Given the description of an element on the screen output the (x, y) to click on. 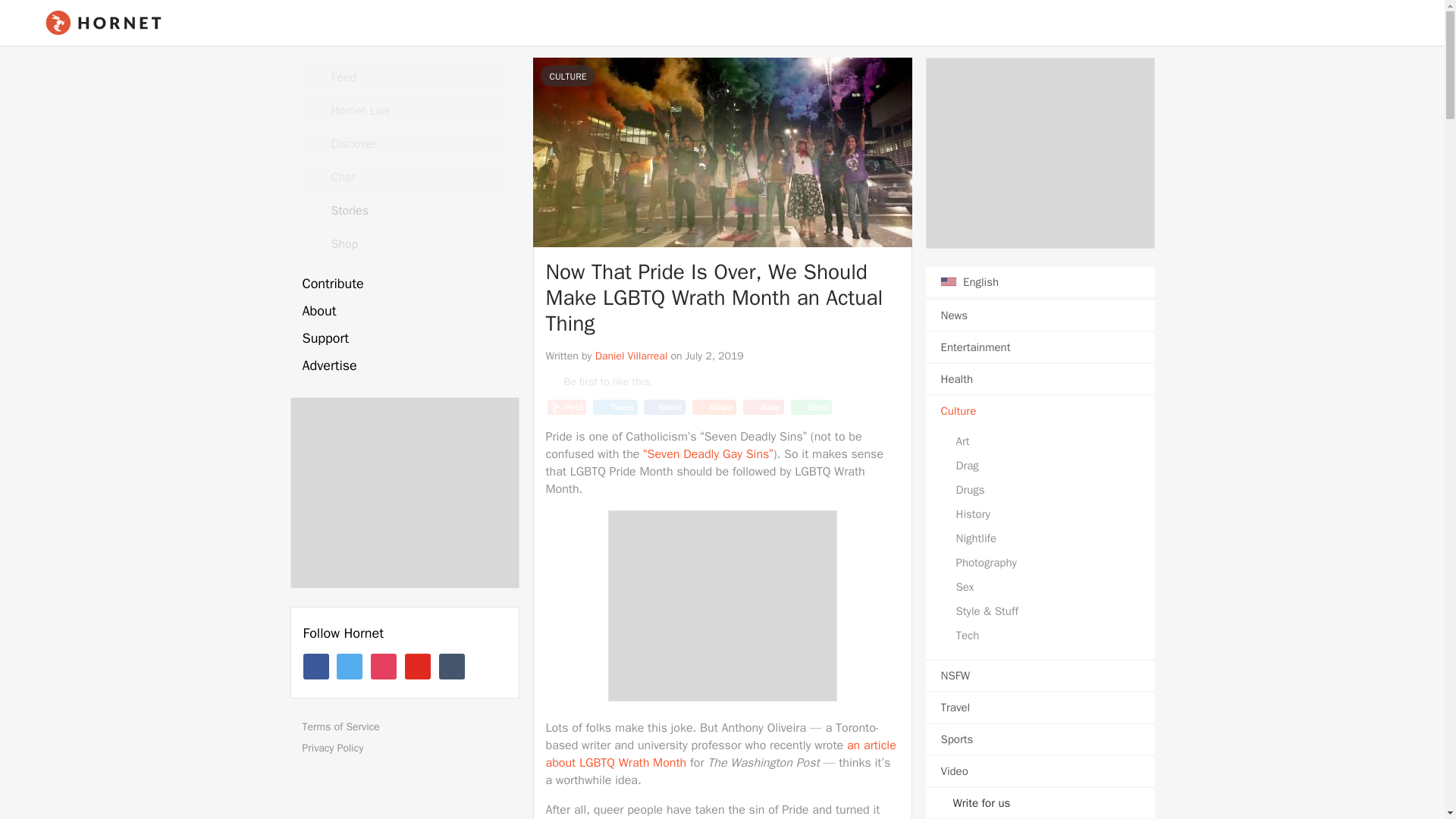
Support (403, 338)
Shop (403, 243)
Share (664, 406)
Advertise (403, 365)
Send (811, 406)
Support (403, 338)
Share (714, 406)
Save (763, 406)
Privacy Policy (408, 748)
Privacy Policy (408, 748)
